Given the description of an element on the screen output the (x, y) to click on. 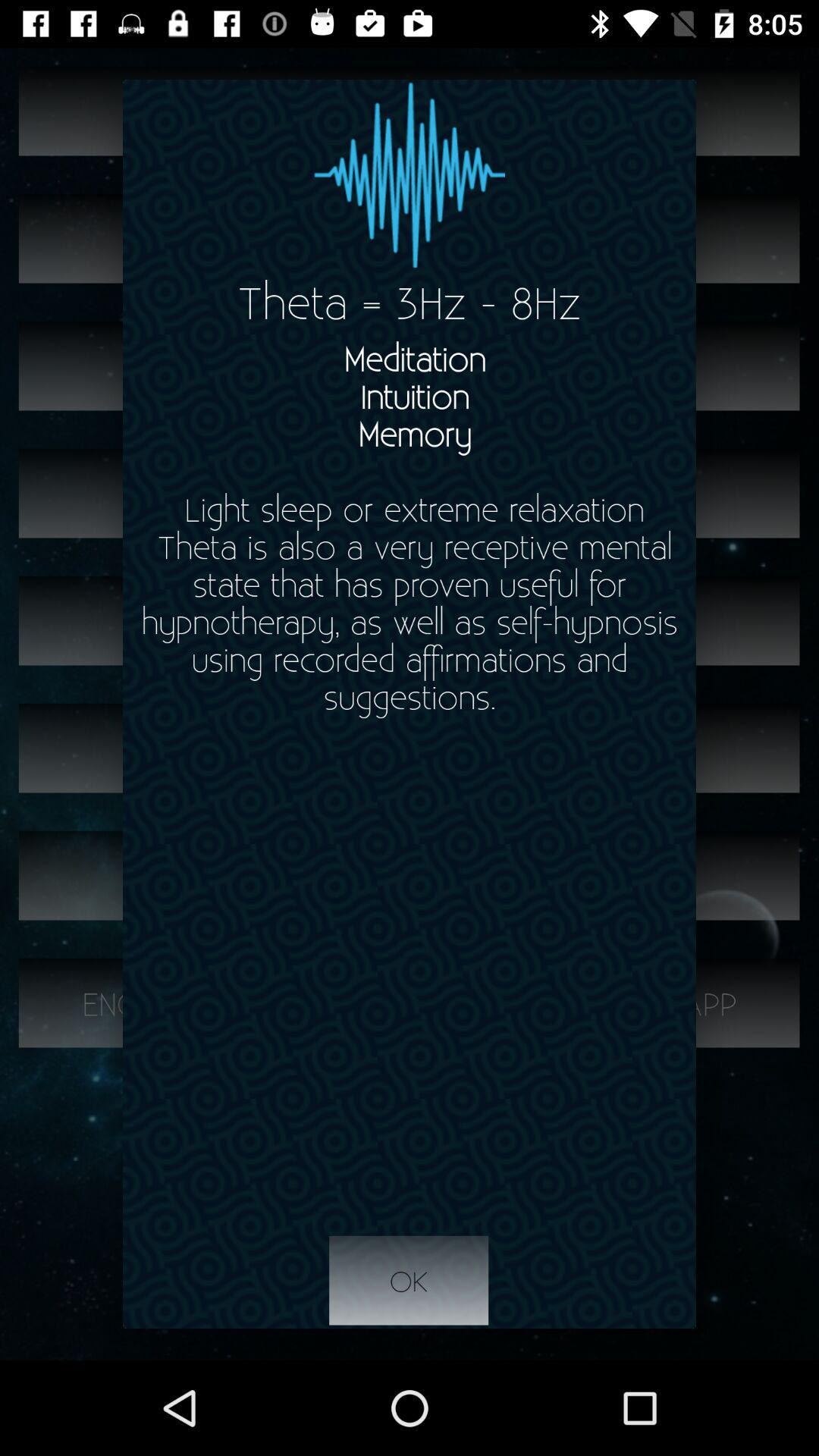
scroll to the ok icon (408, 1280)
